Given the description of an element on the screen output the (x, y) to click on. 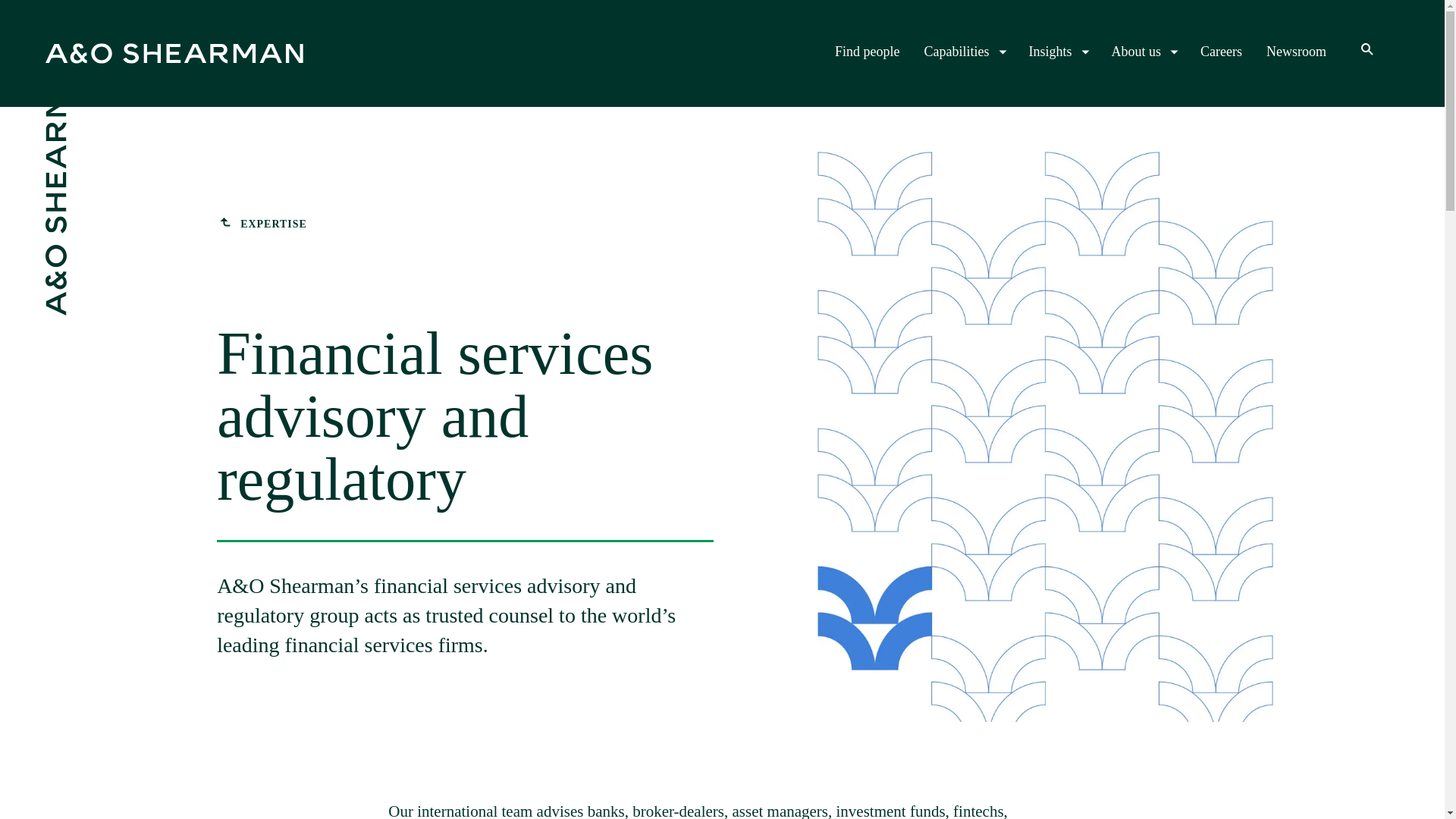
EXPERTISE (261, 224)
Find people (866, 51)
About us (1144, 51)
Careers (1220, 51)
Capabilities (964, 51)
Insights (1056, 51)
Expertise (261, 224)
Newsroom (1296, 51)
